Given the description of an element on the screen output the (x, y) to click on. 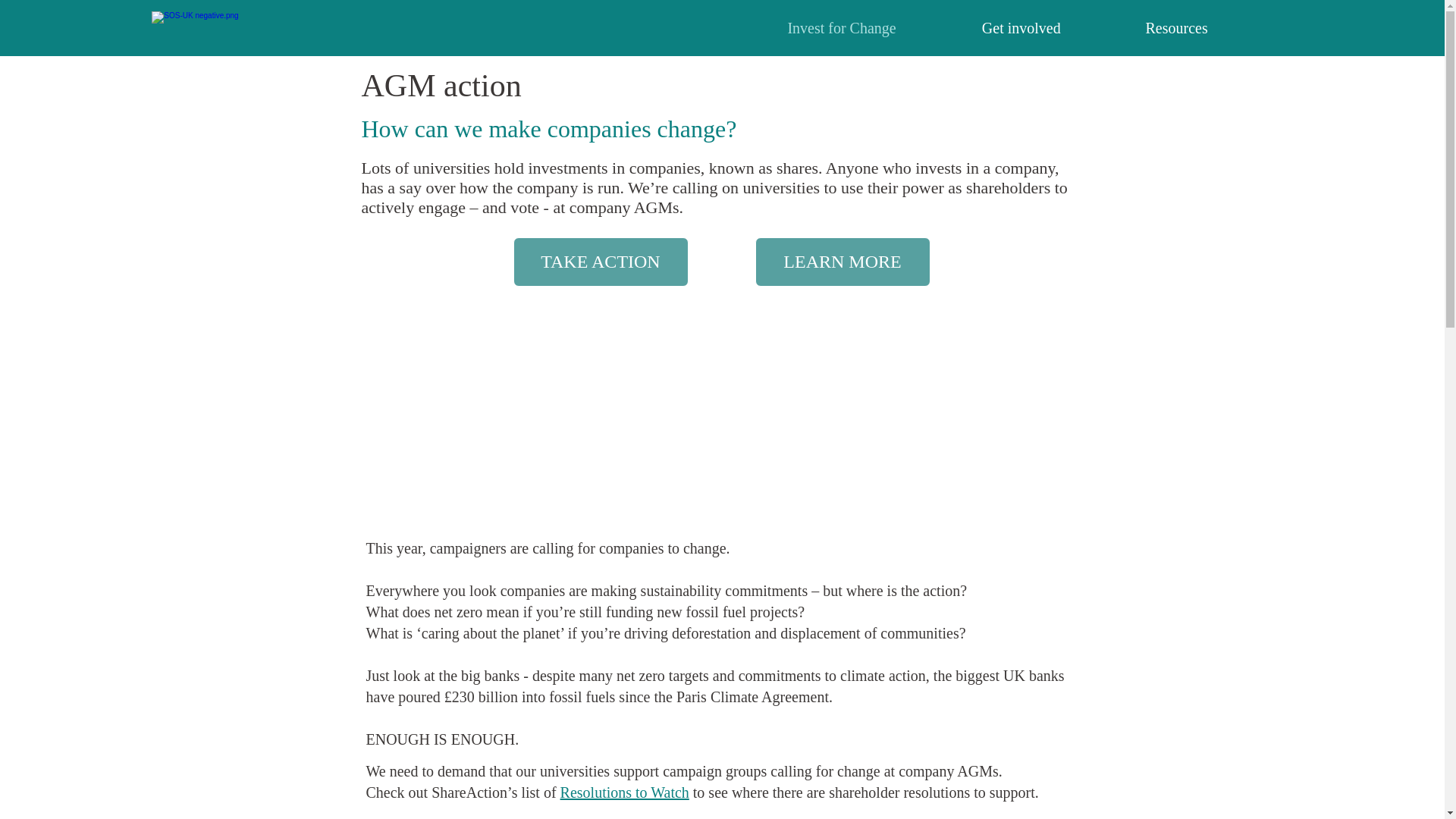
Invest for Change (810, 27)
TAKE ACTION (599, 261)
LEARN MORE (842, 261)
Get involved (989, 27)
Resources (1145, 27)
Resolutions to Watch (624, 791)
